Given the description of an element on the screen output the (x, y) to click on. 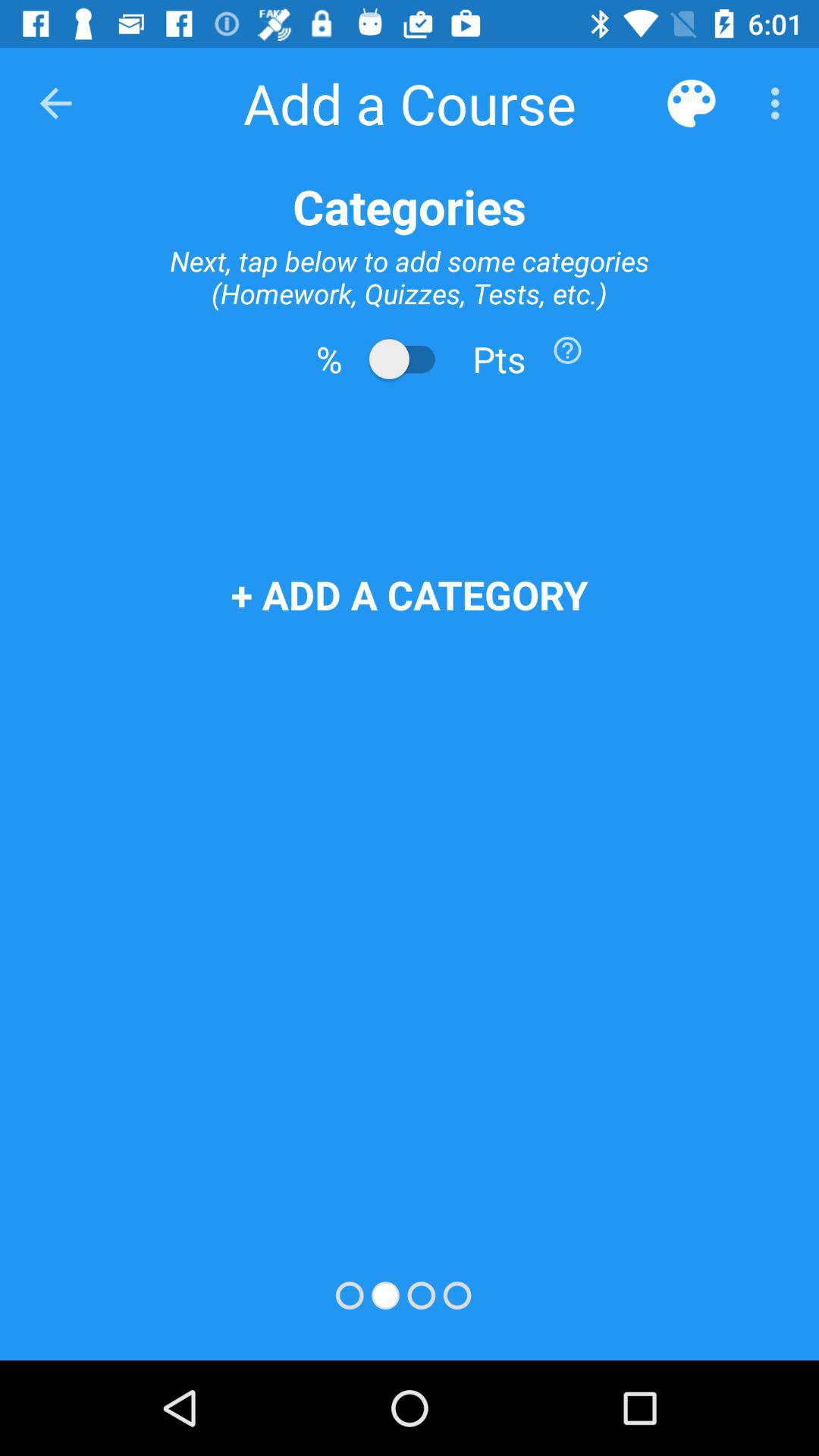
change to points (409, 359)
